Given the description of an element on the screen output the (x, y) to click on. 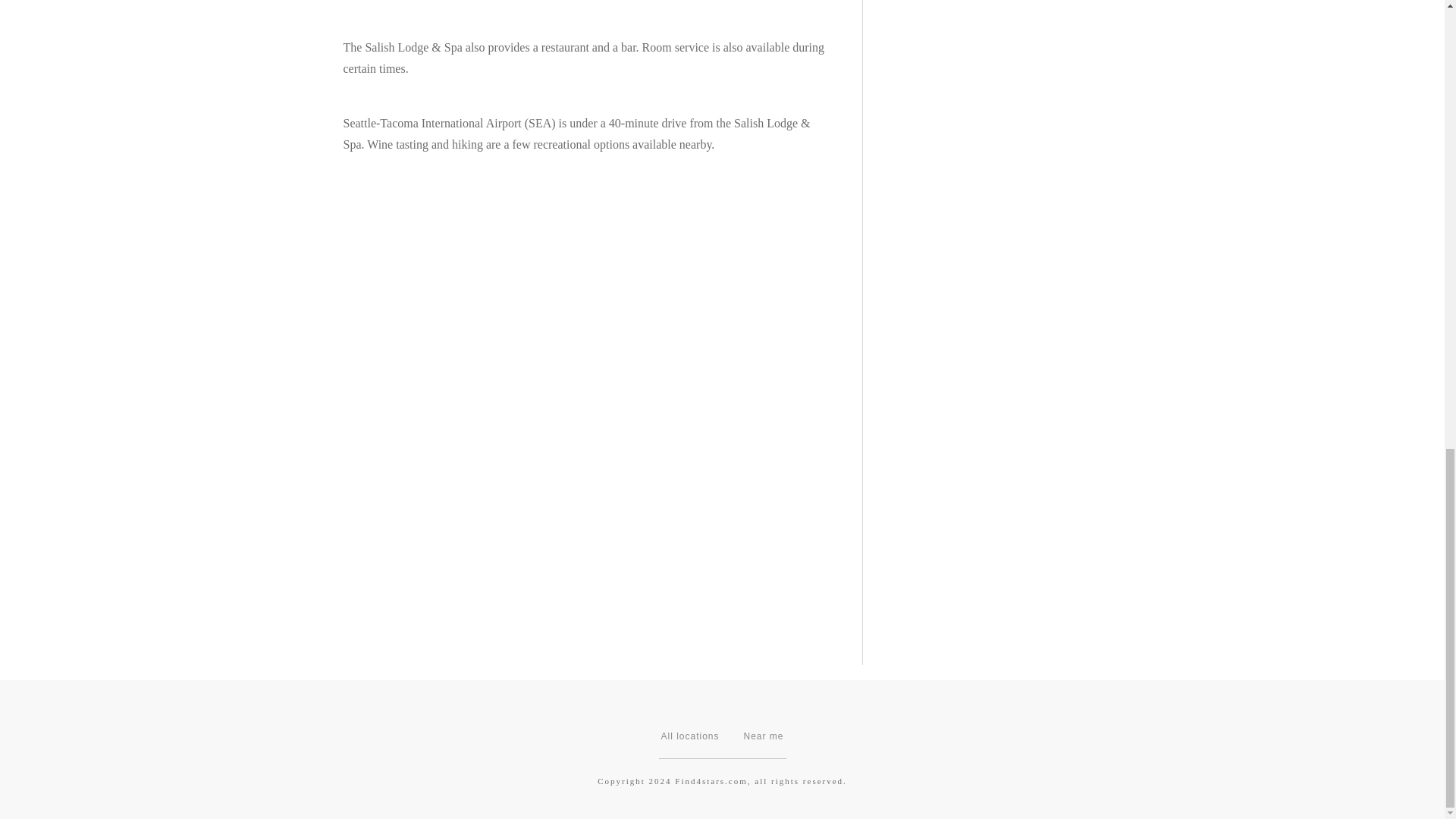
All locations (690, 736)
Near me (762, 736)
